Given the description of an element on the screen output the (x, y) to click on. 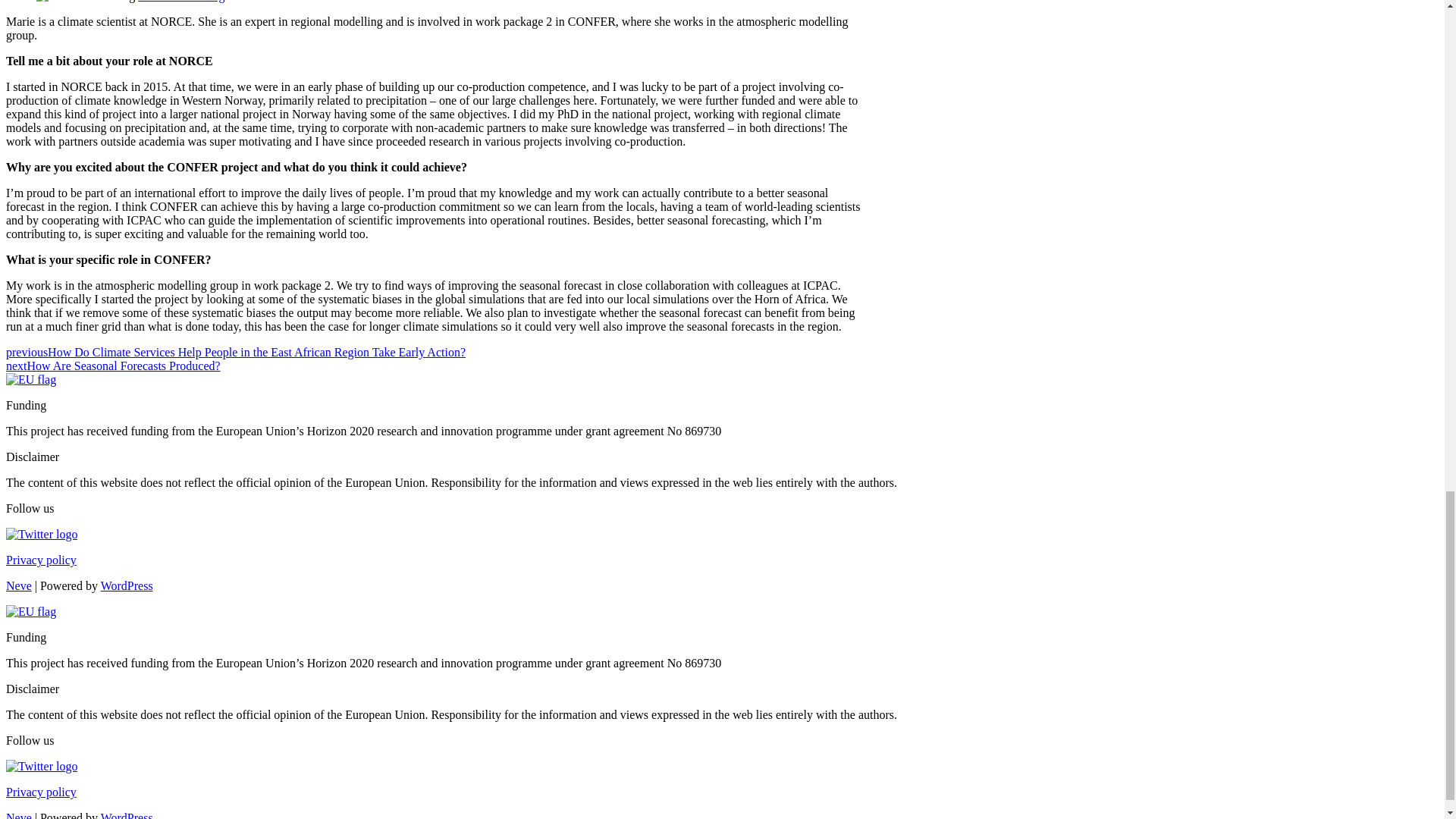
Privacy policy (41, 559)
Neve (18, 585)
WordPress (126, 585)
nextHow Are Seasonal Forecasts Produced? (113, 365)
